Given the description of an element on the screen output the (x, y) to click on. 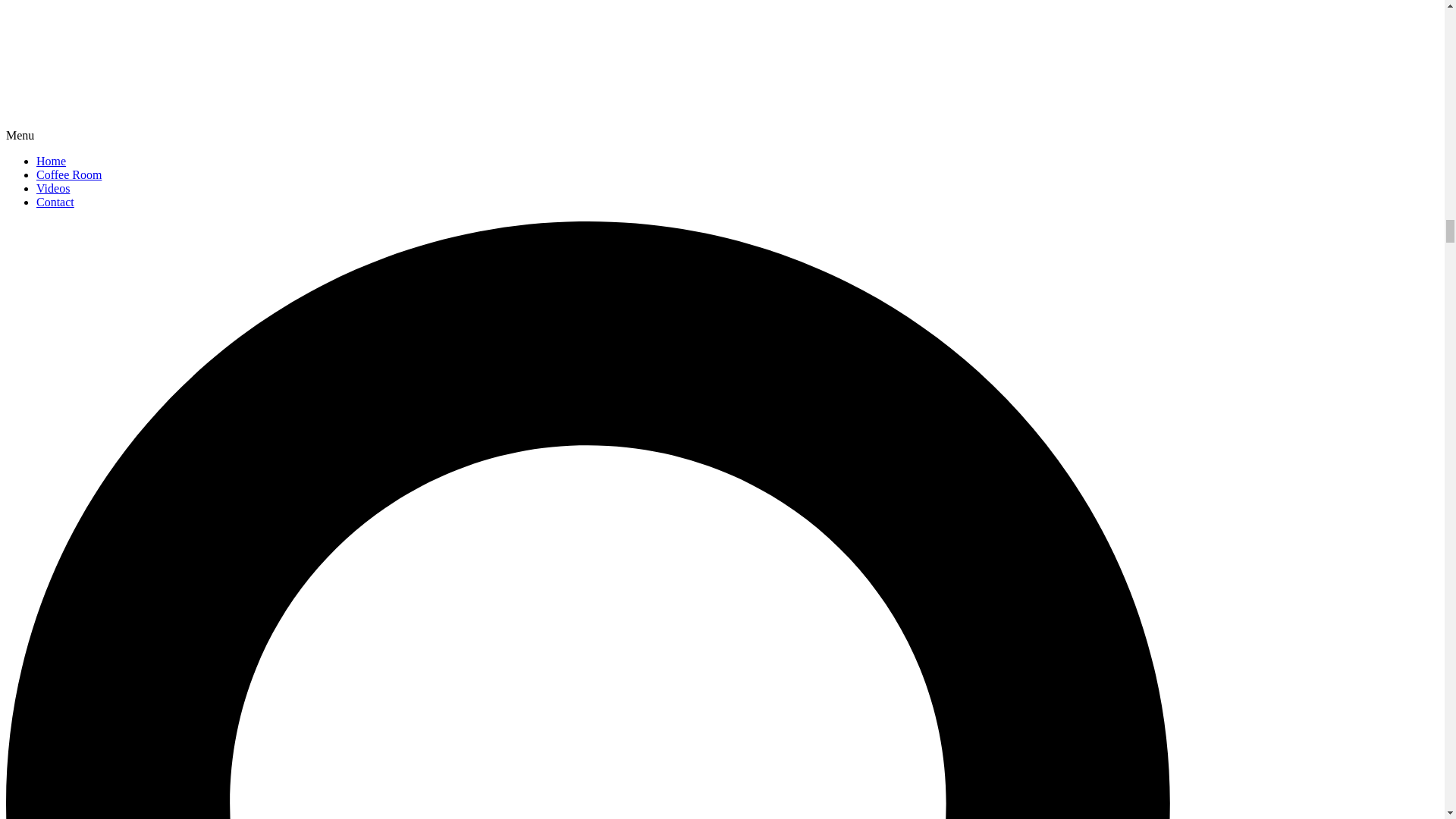
Videos (52, 187)
Contact (55, 201)
Home (50, 160)
Coffee Room (68, 174)
